Given the description of an element on the screen output the (x, y) to click on. 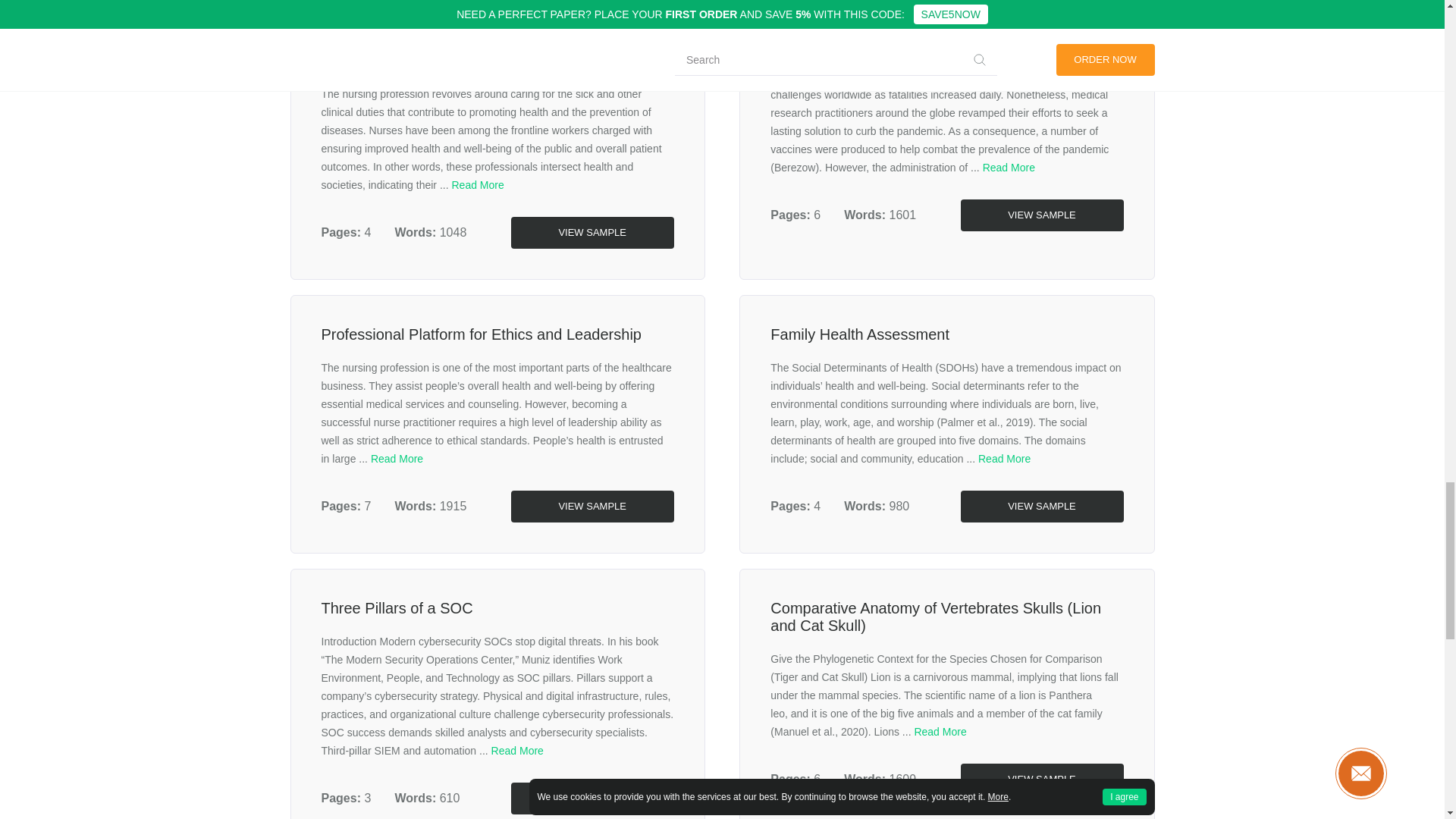
Read More (477, 184)
VIEW SAMPLE (1040, 214)
Family Health Assessment (859, 334)
Read More (1004, 458)
The Future of Nursing and the Role of the Consensus Model (461, 51)
VIEW SAMPLE (592, 798)
Professional Platform for Ethics and Leadership (481, 334)
Read More (397, 458)
Three Pillars of a SOC (397, 607)
Read More (517, 750)
Read More (940, 731)
VIEW SAMPLE (592, 232)
VIEW SAMPLE (592, 506)
Read More (1008, 167)
Should COVID-19 Vaccines Be Mandatory (912, 43)
